Given the description of an element on the screen output the (x, y) to click on. 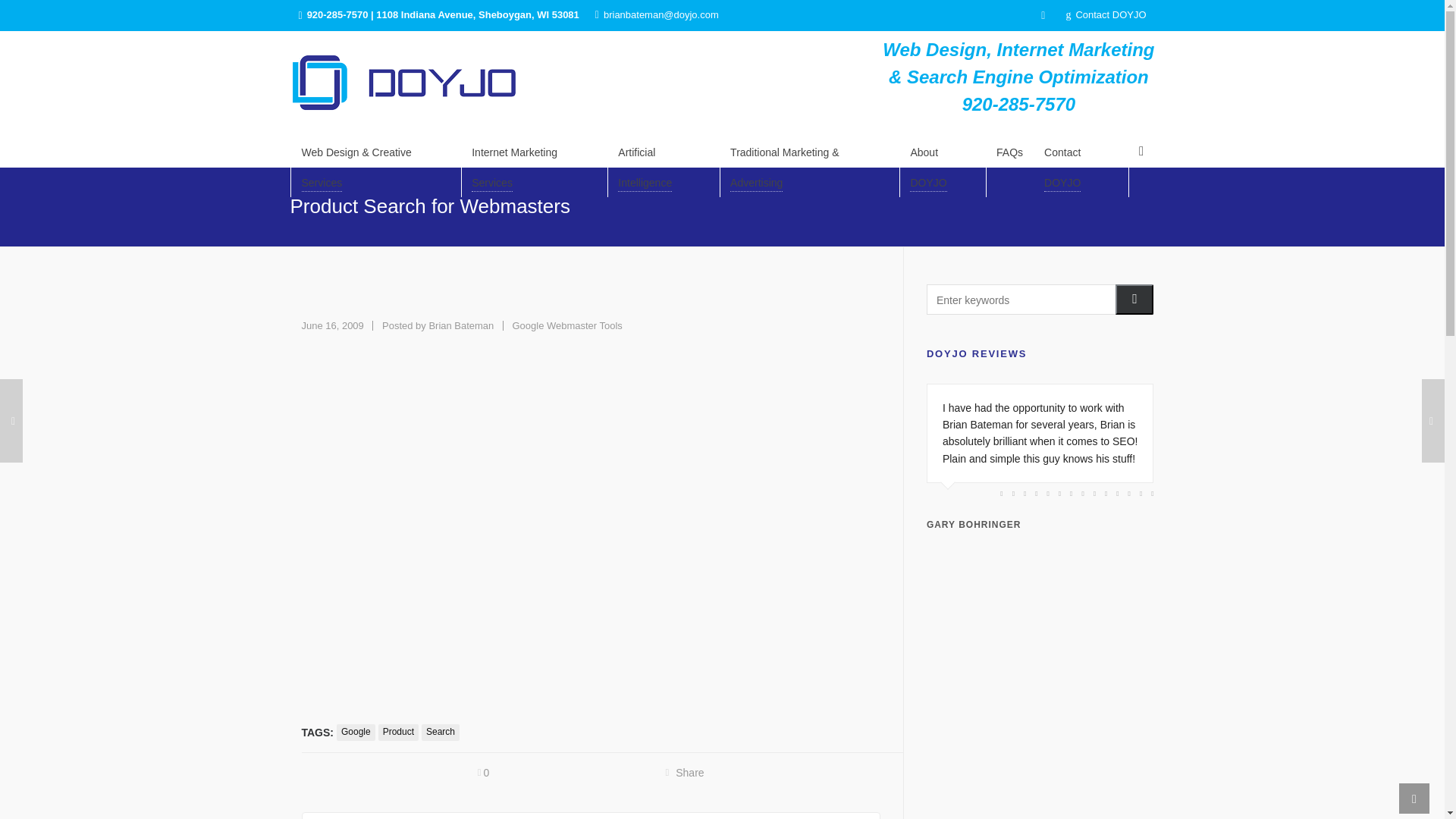
Lindsay Arnold Website Design (1002, 498)
Posts by Brian Bateman (460, 325)
